Given the description of an element on the screen output the (x, y) to click on. 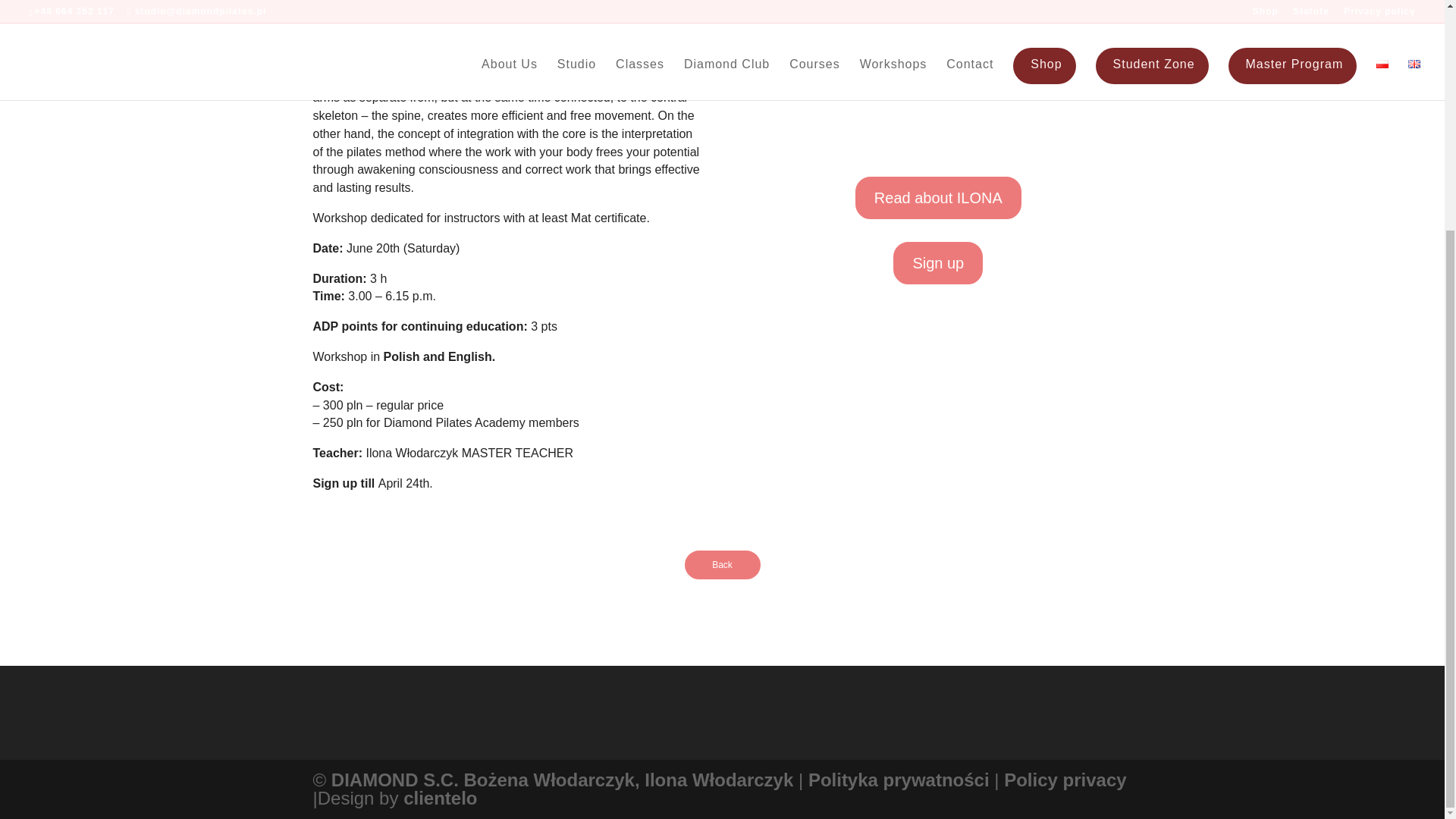
Read about ILONA (939, 197)
clientelo (440, 797)
Sign up (937, 262)
Back (722, 564)
Policy privacy (1064, 779)
